Given the description of an element on the screen output the (x, y) to click on. 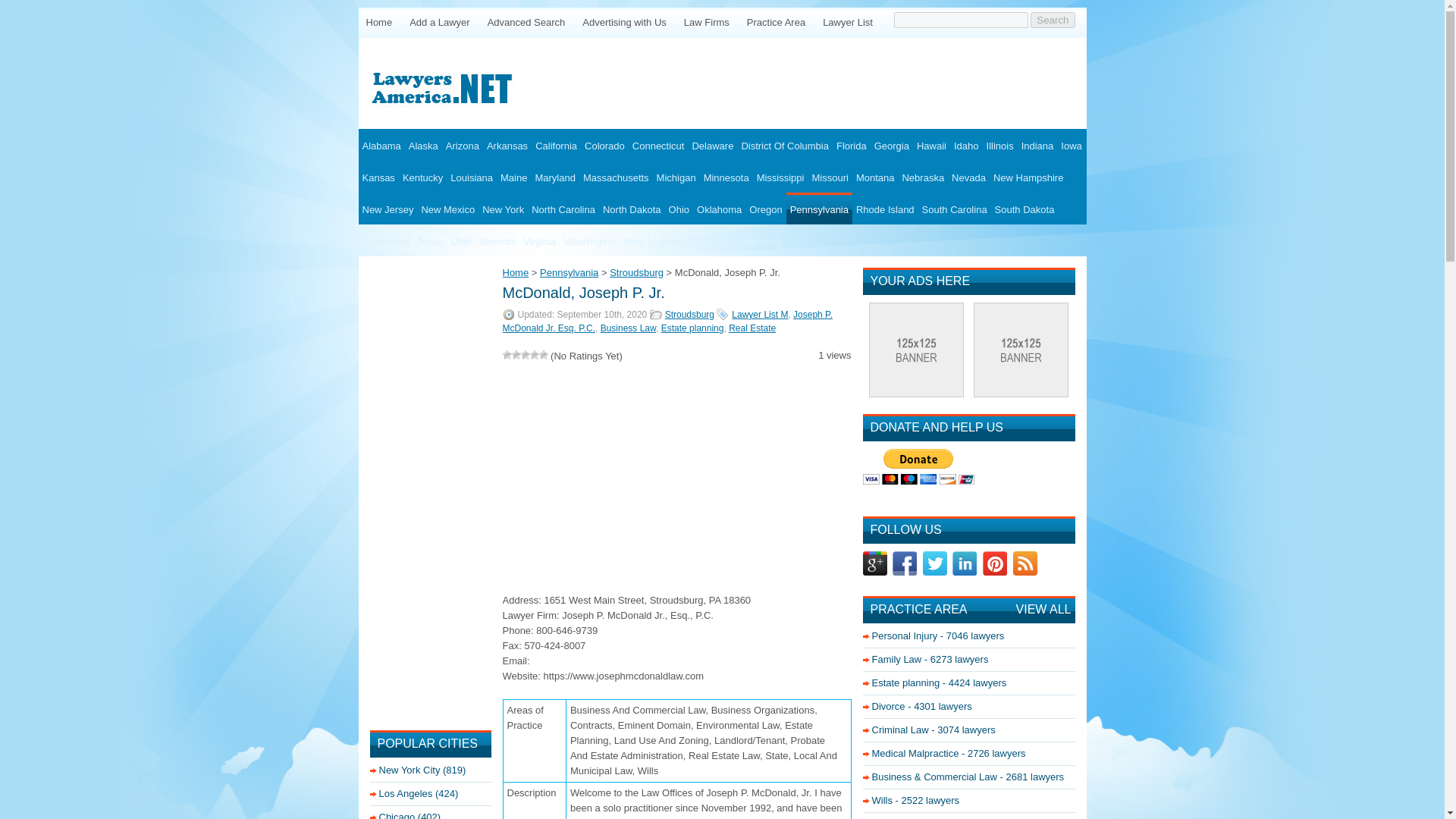
Louisiana (471, 176)
Add a Lawyer (439, 21)
lawyers in Alaska (423, 144)
Search (1052, 19)
Nebraska (922, 176)
New Hampshire (1028, 176)
Connecticut (658, 144)
Hawaii (931, 144)
lawyers in Georgia (891, 144)
Practice Area (775, 21)
lawyers in Hawaii (931, 144)
Illinois (999, 144)
lawyers in California (555, 144)
Search (1052, 19)
Colorado (604, 144)
